Given the description of an element on the screen output the (x, y) to click on. 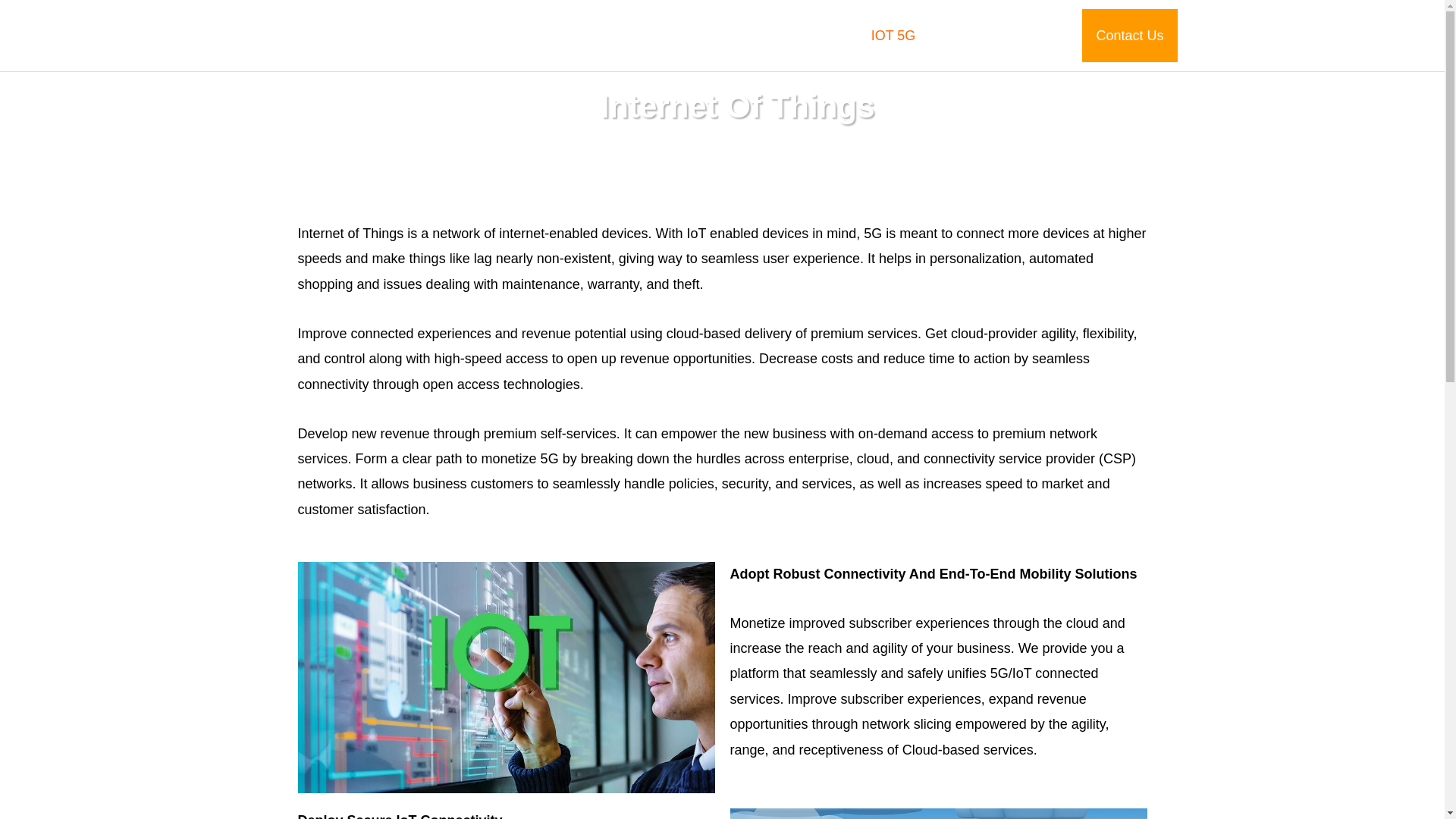
OneLink (707, 35)
About Us (969, 35)
IOT 5G (893, 35)
Digital Transformation (588, 35)
Cybersecurity (801, 35)
Blog (1039, 35)
Contact Us (1128, 35)
